Given the description of an element on the screen output the (x, y) to click on. 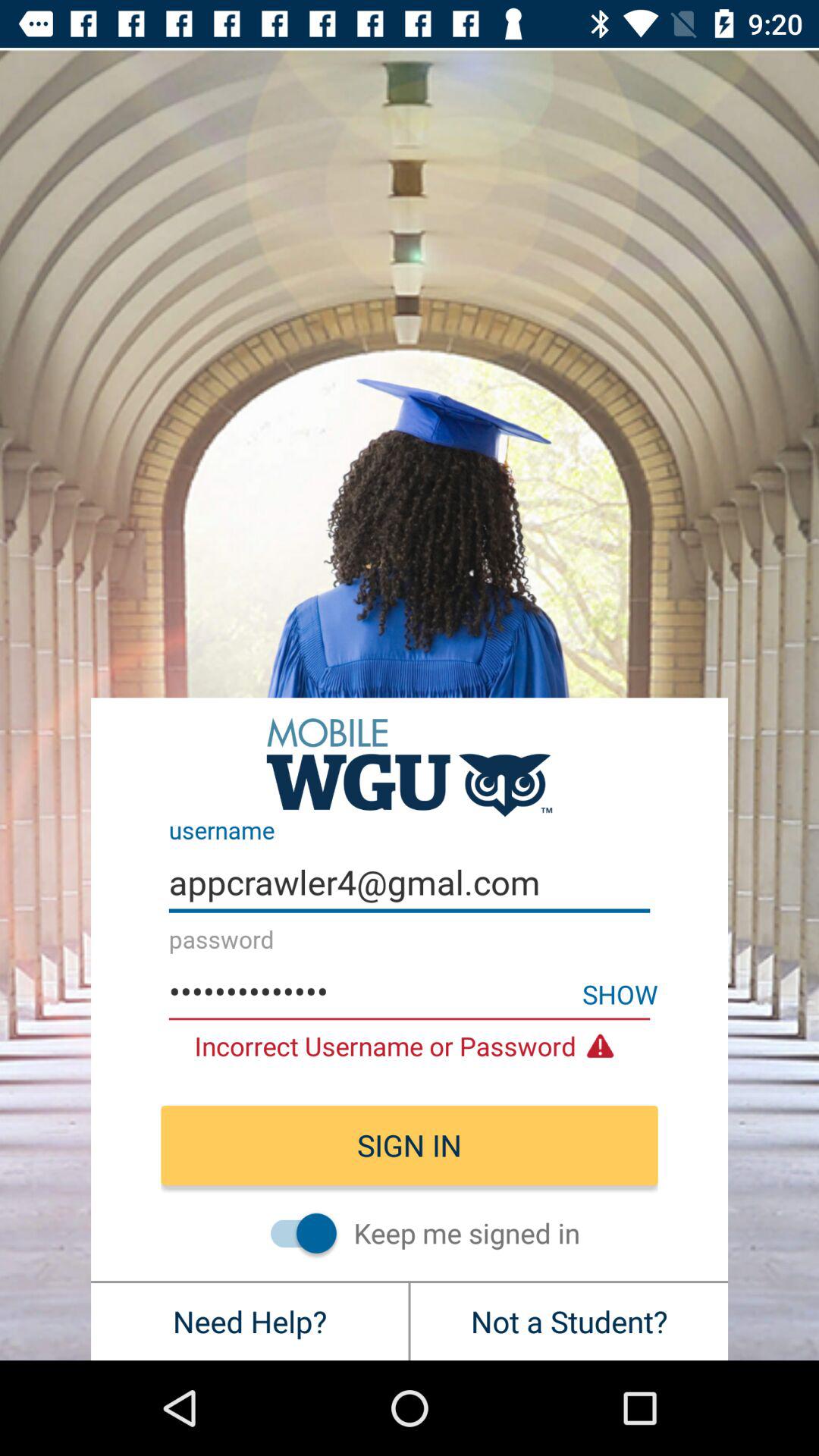
click the show item (620, 993)
